Given the description of an element on the screen output the (x, y) to click on. 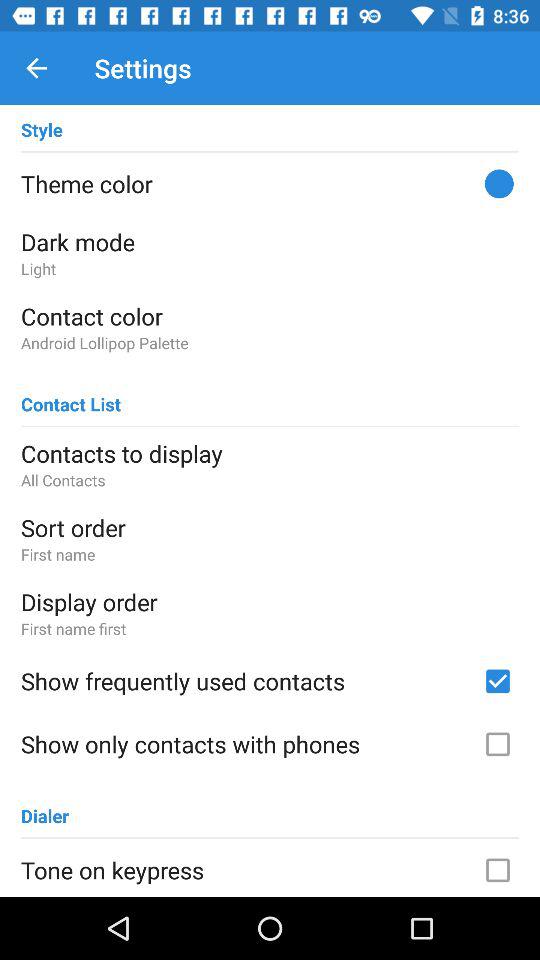
scroll to contacts to display item (270, 453)
